Given the description of an element on the screen output the (x, y) to click on. 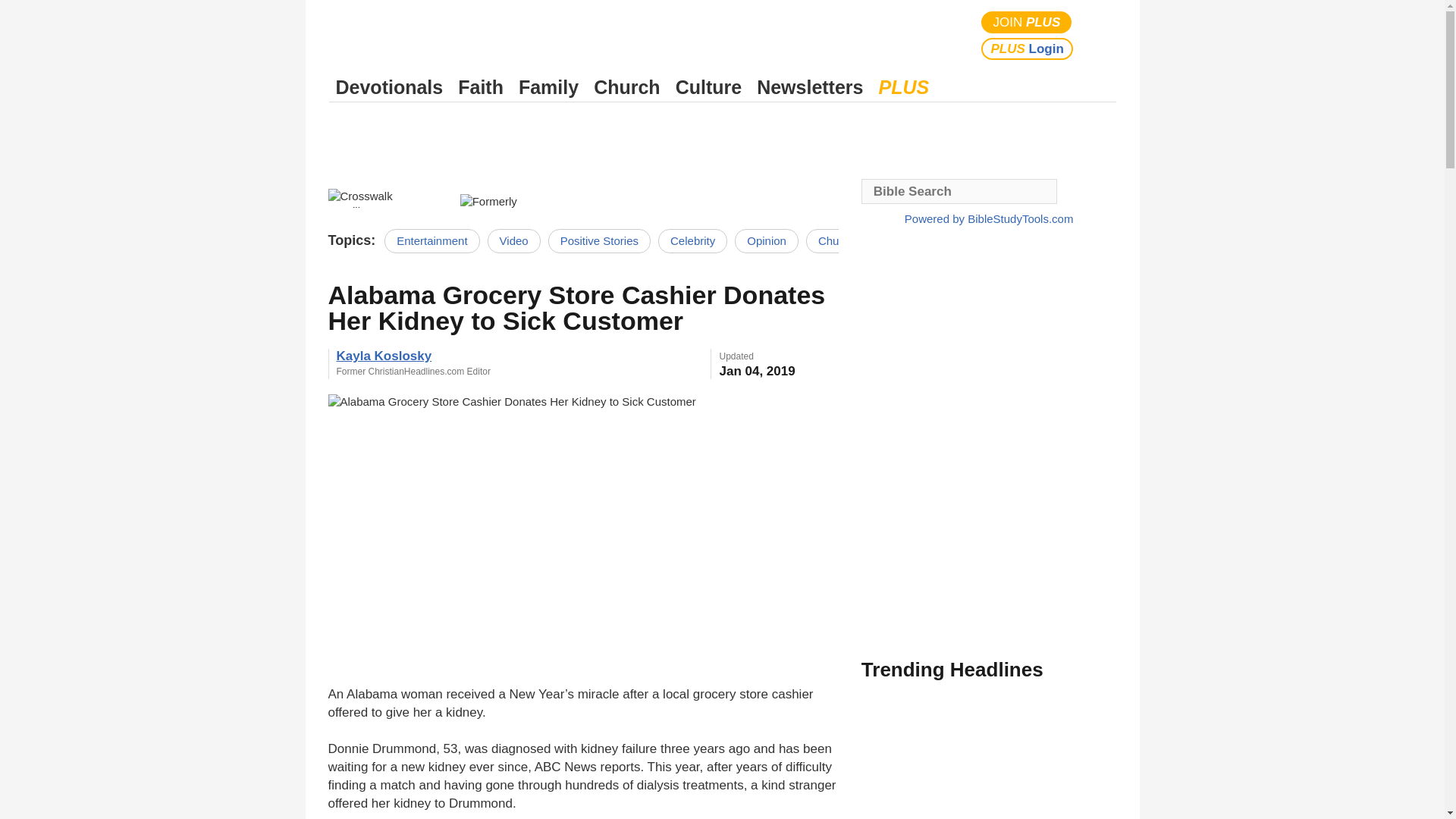
Search (1101, 34)
JOIN PLUS (1026, 22)
PLUS Login (1026, 48)
Join Plus (1026, 22)
Crosswalk Headlines (385, 196)
Devotionals (389, 87)
Faith (481, 87)
Family (548, 87)
Plus Login (1026, 48)
